Given the description of an element on the screen output the (x, y) to click on. 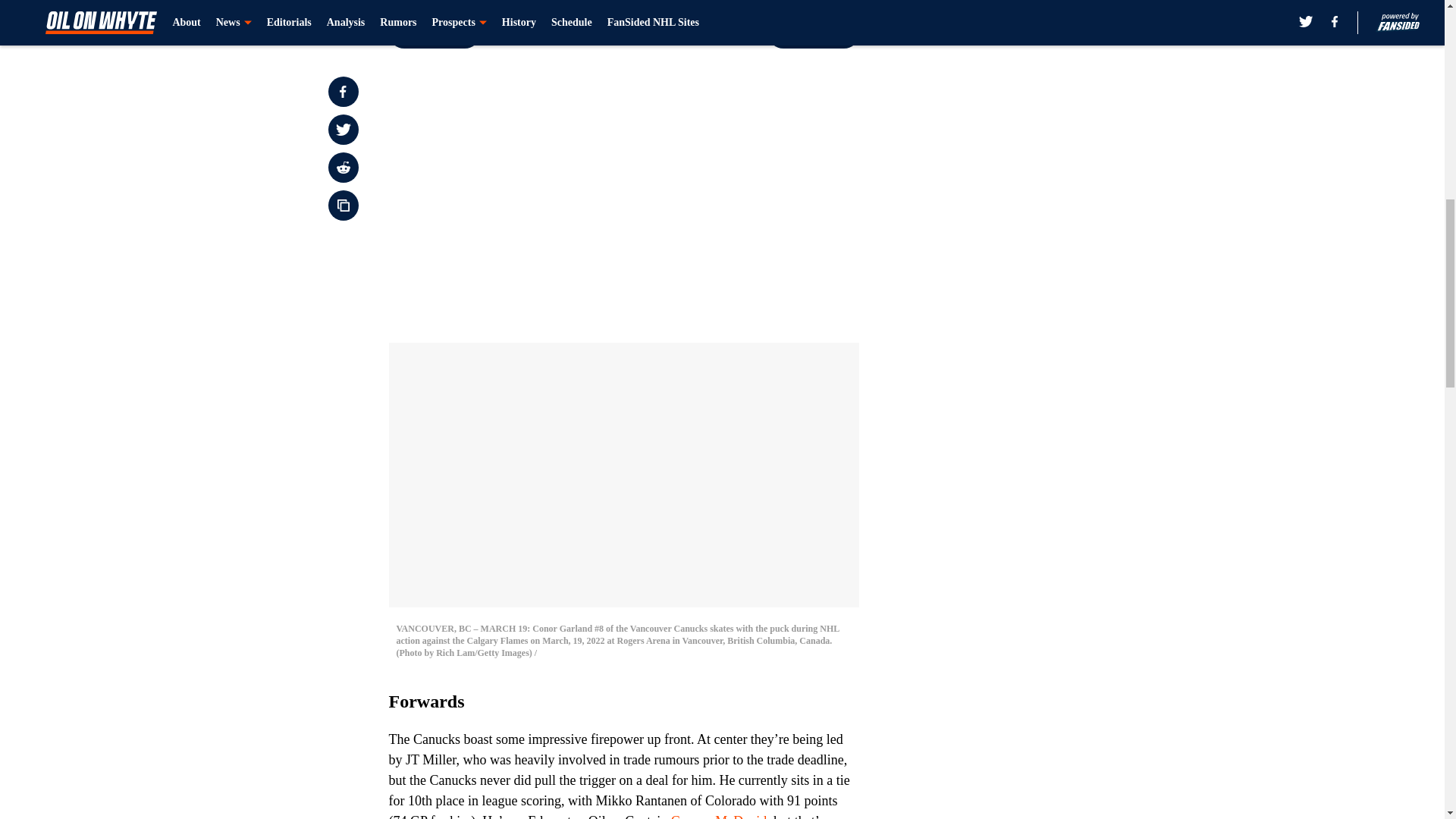
Next (813, 33)
Prev (433, 33)
Connor McDavid (719, 816)
